Given the description of an element on the screen output the (x, y) to click on. 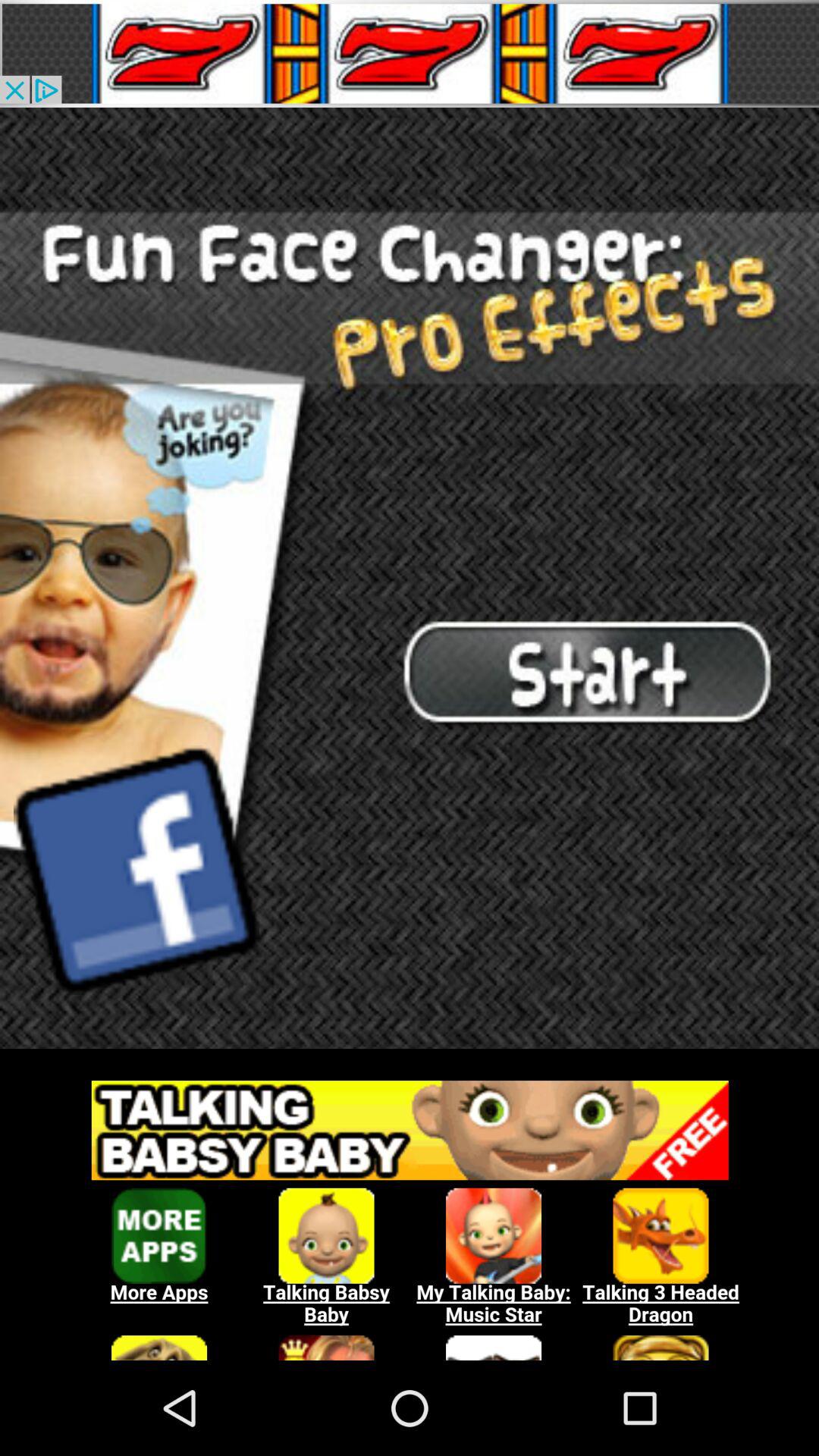
go to advertisement page (409, 53)
